Given the description of an element on the screen output the (x, y) to click on. 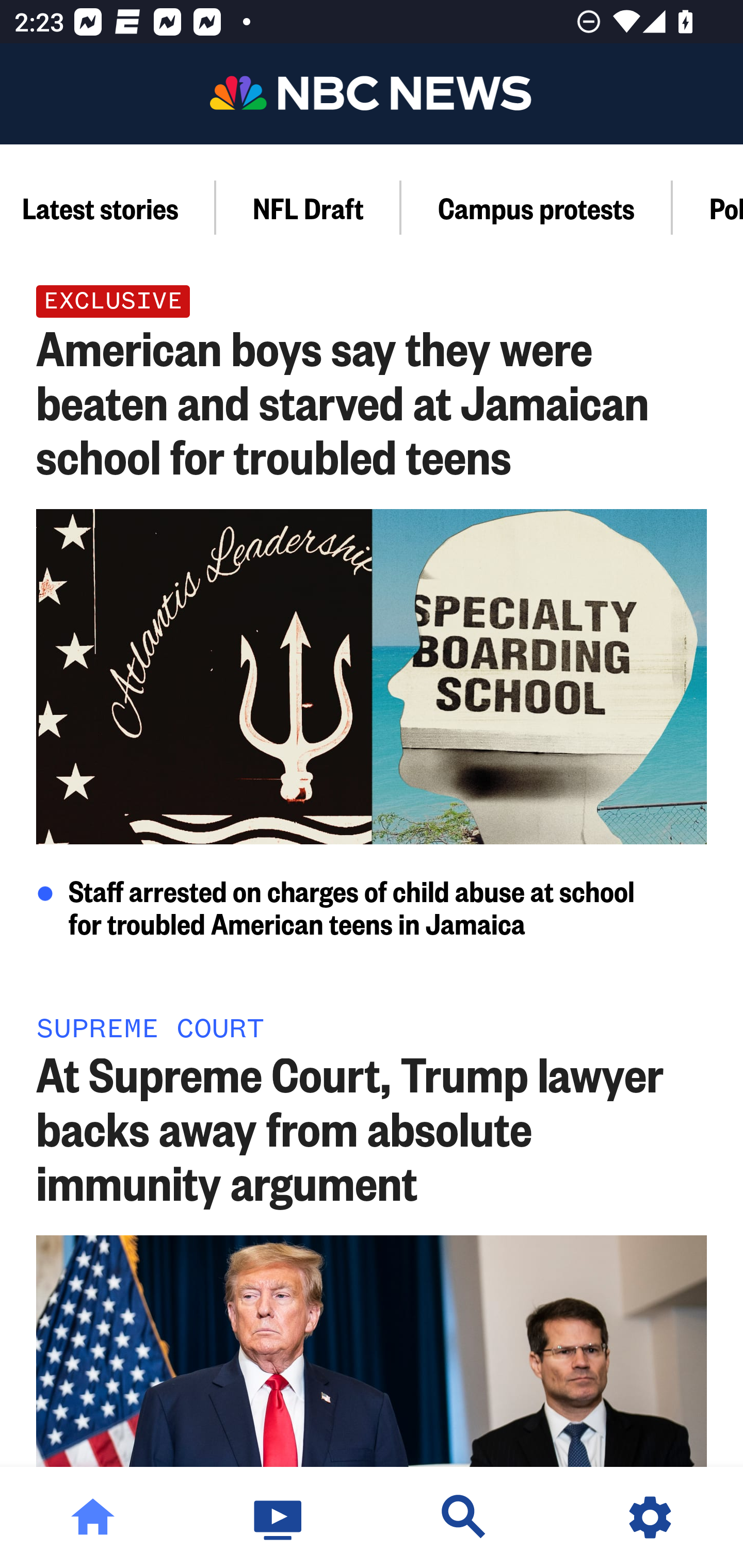
Latest stories Section,Latest stories (108, 207)
NFL Draft (308, 207)
Campus protests (537, 207)
Watch (278, 1517)
Discover (464, 1517)
Settings (650, 1517)
